Given the description of an element on the screen output the (x, y) to click on. 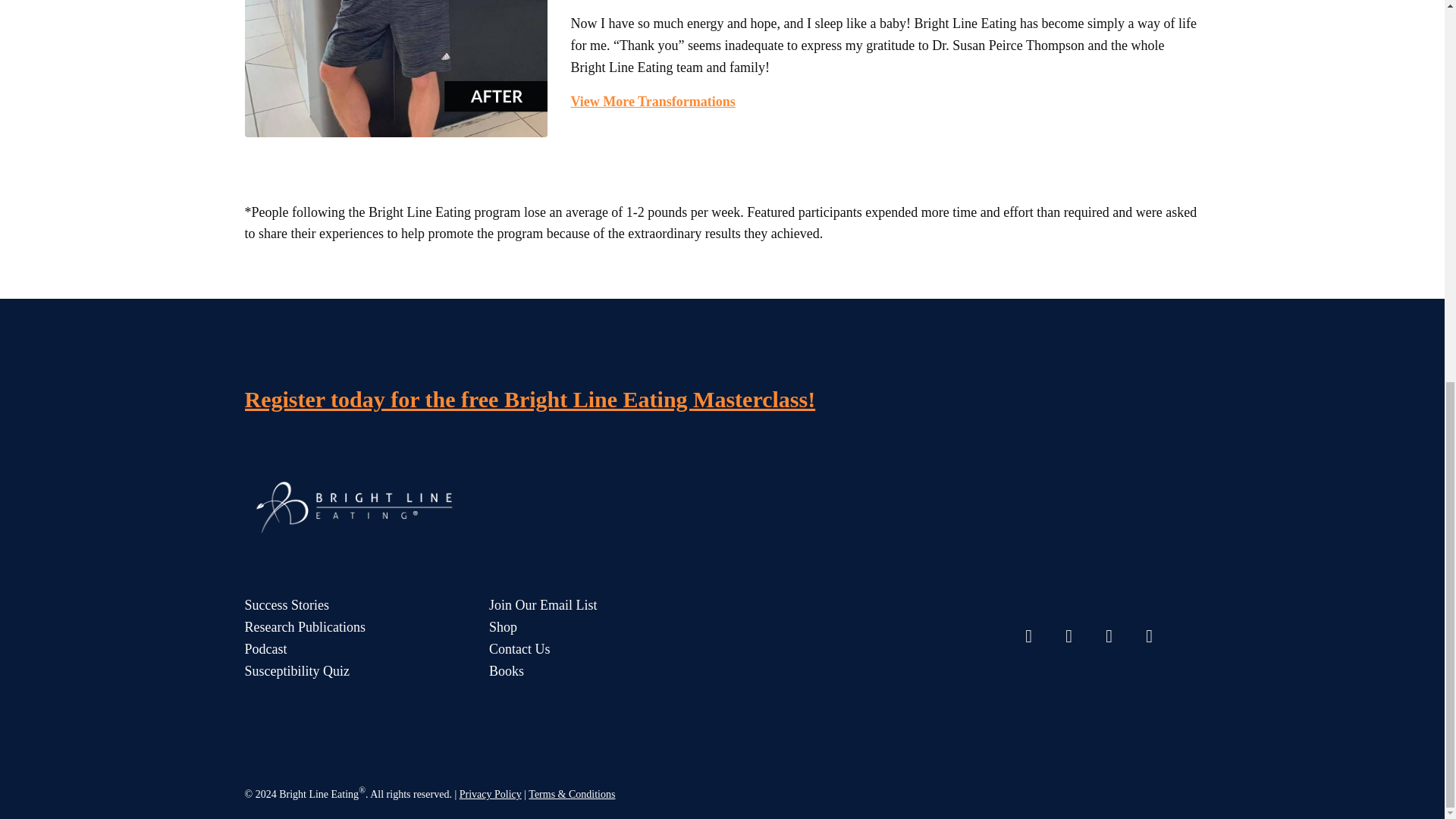
Susceptibility Quiz (347, 671)
Join Our Email List (592, 605)
Shop (592, 627)
Register today for the free Bright Line Eating Masterclass! (529, 398)
Success Stories (347, 605)
Podcast (347, 649)
View More Transformations (652, 101)
Contact Us (592, 649)
Books (592, 671)
Research Publications (347, 627)
Privacy Policy (490, 794)
